Given the description of an element on the screen output the (x, y) to click on. 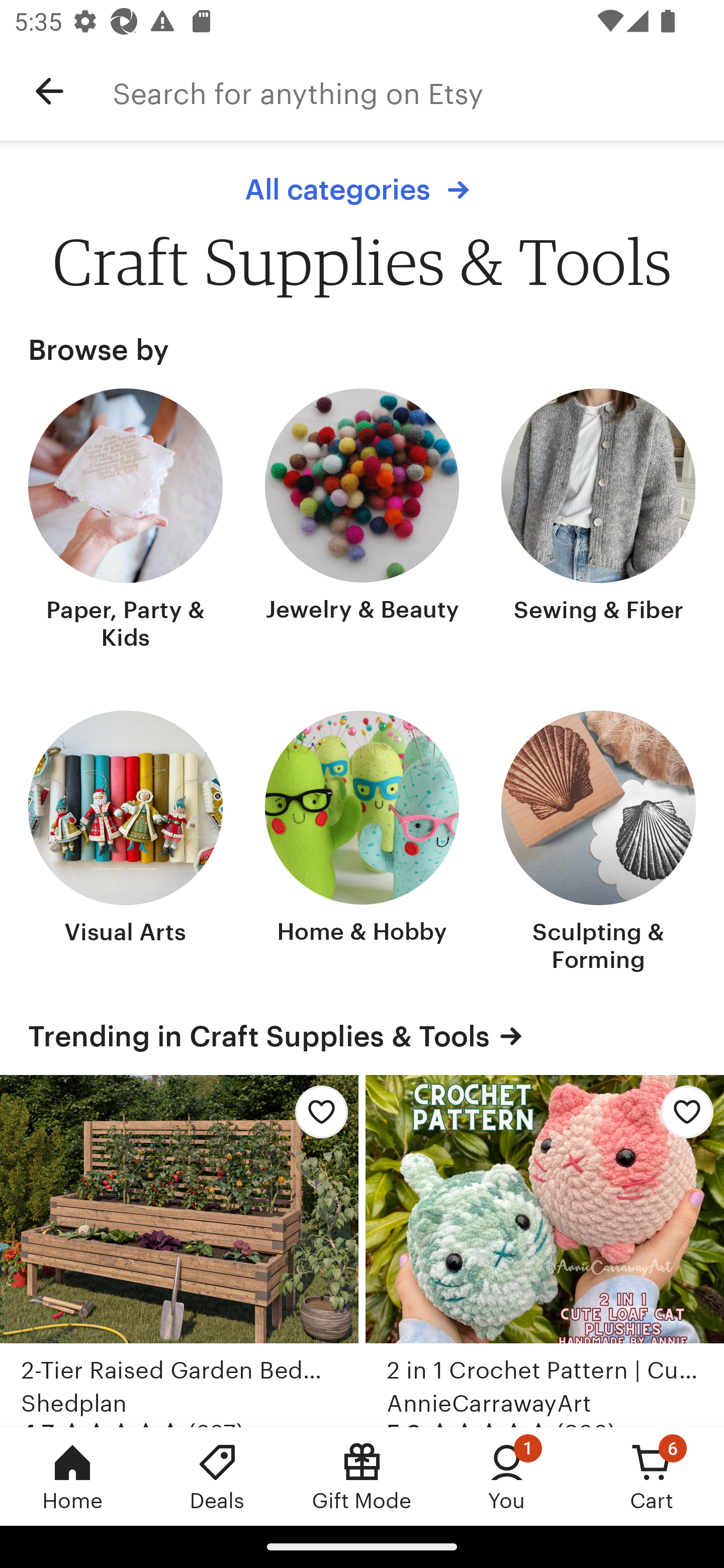
Navigate up (49, 91)
Search for anything on Etsy (418, 91)
All categories (361, 189)
Paper, Party & Kids (125, 520)
Jewelry & Beauty (361, 520)
Sewing & Fiber (598, 520)
Visual Arts (125, 843)
Home & Hobby (361, 843)
Sculpting & Forming (598, 843)
Trending in Craft Supplies & Tools  (361, 1036)
Deals (216, 1475)
Gift Mode (361, 1475)
You, 1 new notification You (506, 1475)
Cart, 6 new notifications Cart (651, 1475)
